Given the description of an element on the screen output the (x, y) to click on. 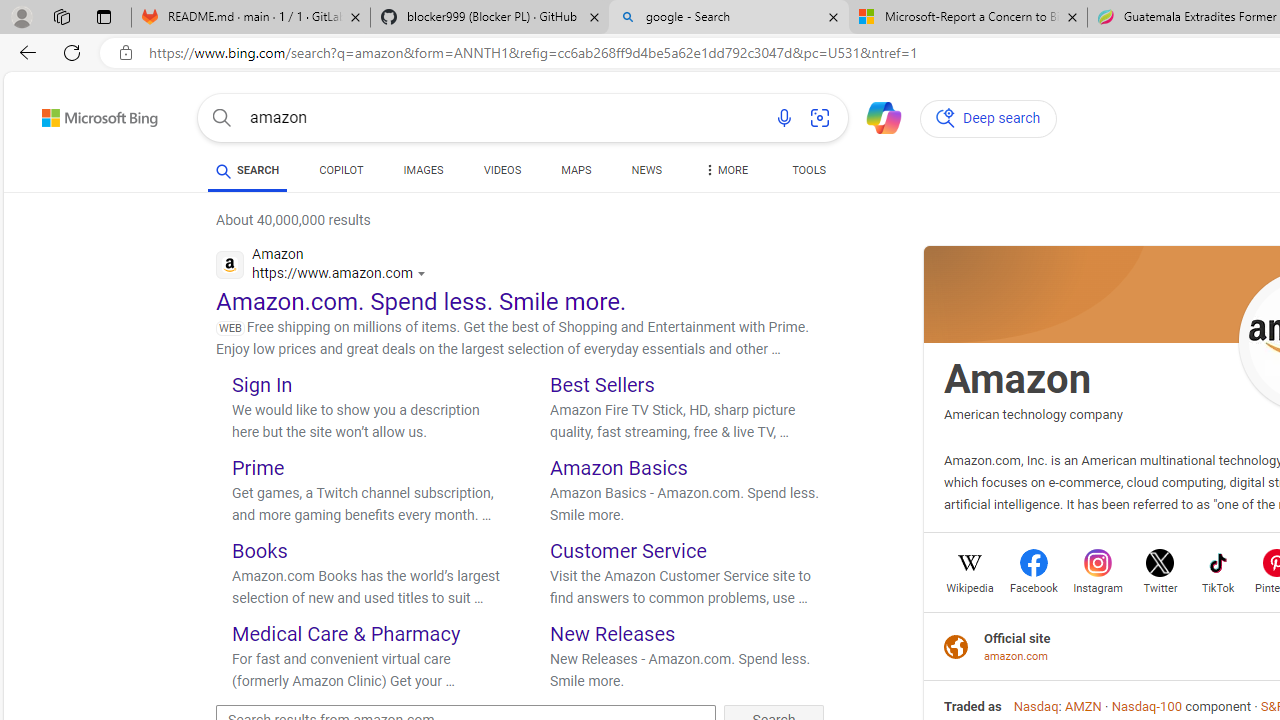
Medical Care & Pharmacy (345, 632)
Amazon Basics (619, 467)
NEWS (646, 173)
Back to Bing search (87, 113)
Amazon.com. Spend less. Smile more. (421, 301)
Search button (221, 117)
COPILOT (341, 170)
VIDEOS (501, 173)
Skip to content (64, 111)
New Releases (612, 632)
Twitter (1160, 586)
